Given the description of an element on the screen output the (x, y) to click on. 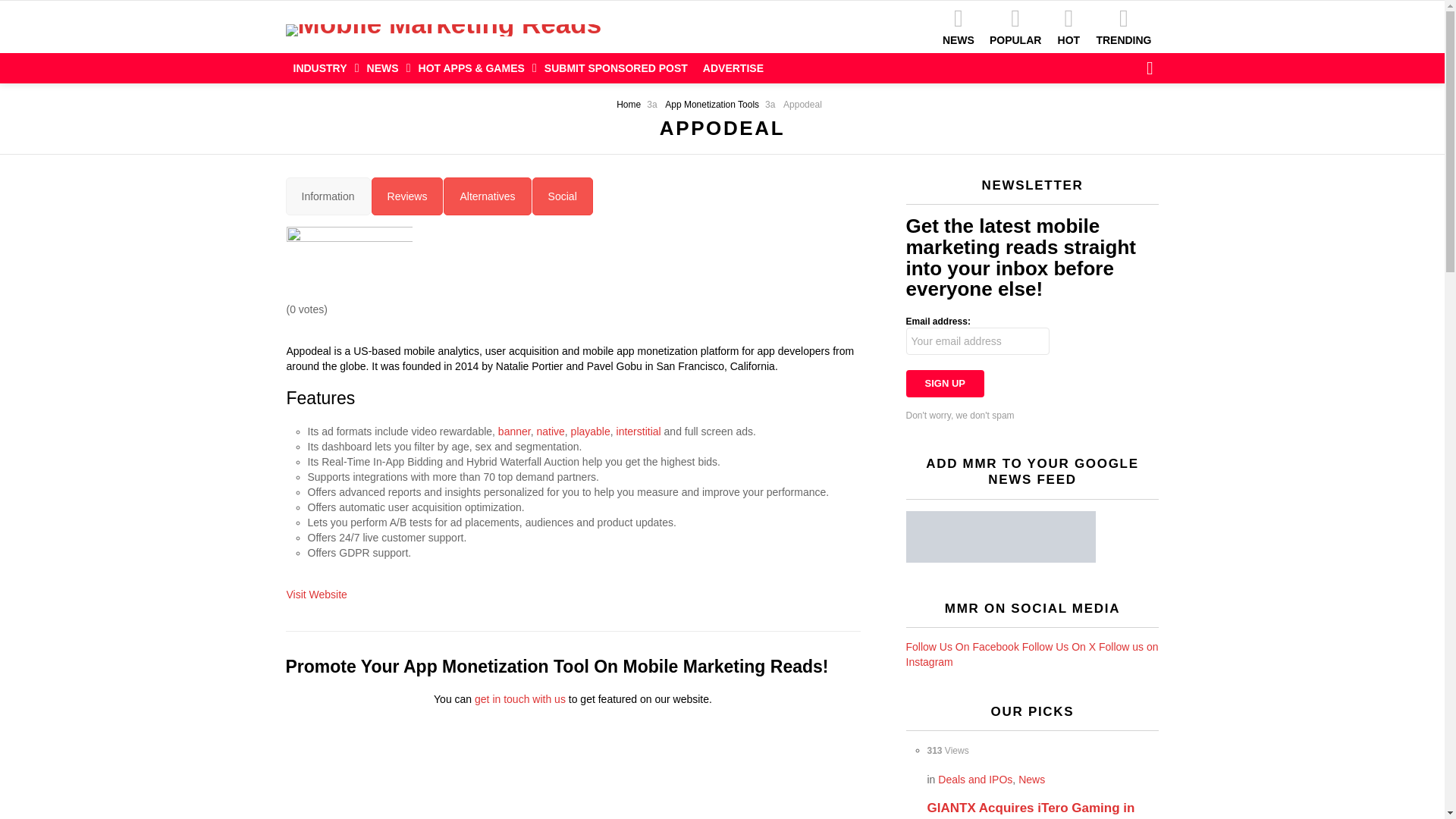
NEWS (957, 25)
ADVERTISE (733, 67)
INDUSTRY (321, 67)
SEARCH (1149, 68)
TRENDING (1122, 25)
HOT (1067, 25)
SUBMIT SPONSORED POST (616, 67)
Sign up (944, 383)
NEWS (384, 67)
POPULAR (1014, 25)
